Given the description of an element on the screen output the (x, y) to click on. 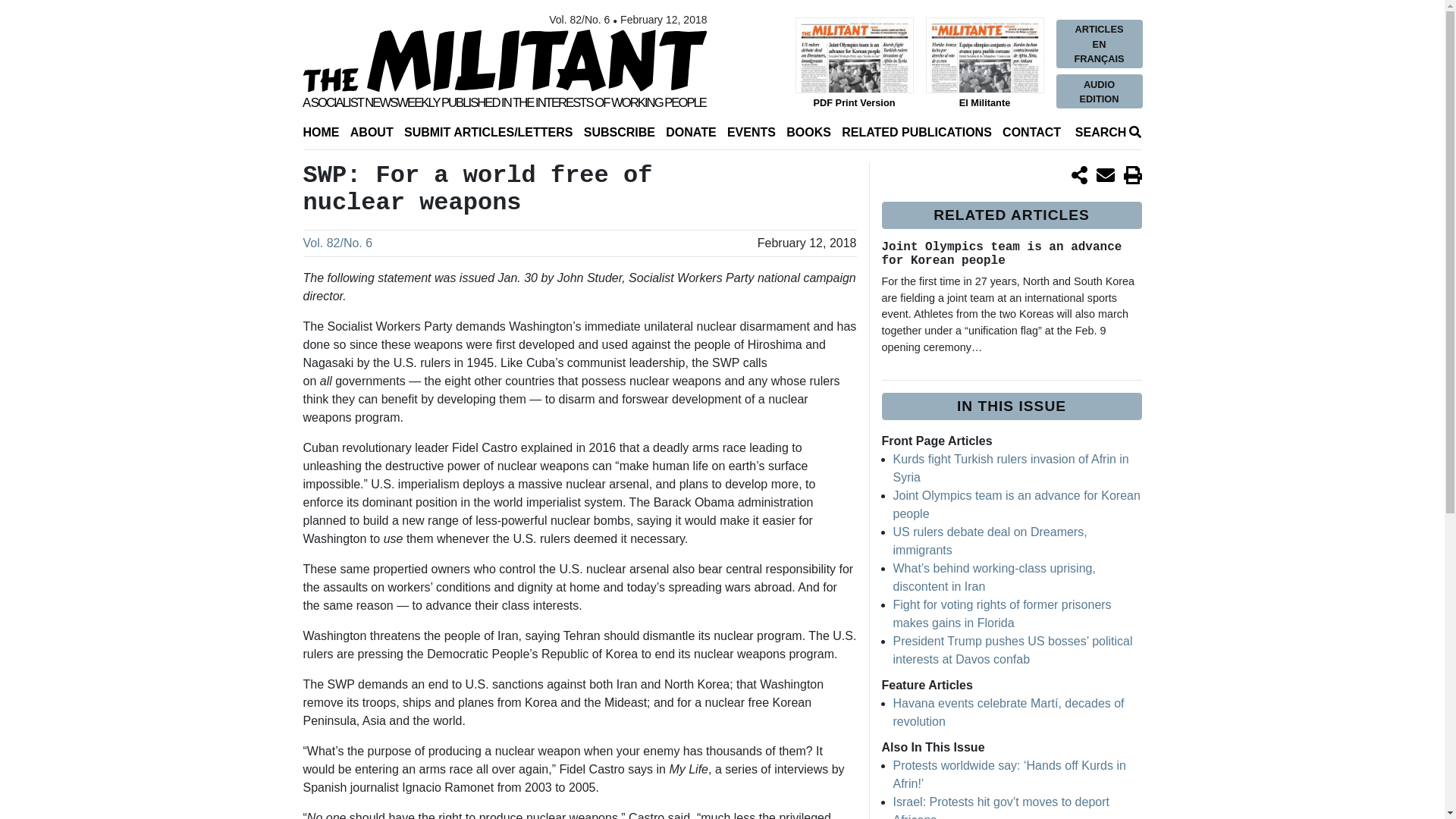
Events (751, 132)
Subscribe (619, 132)
Donate (690, 132)
BOOKS (808, 132)
Joint Olympics team is an advance for Korean people (1000, 253)
DONATE (690, 132)
Home (320, 132)
SUBSCRIBE (619, 132)
Joint Olympics team is an advance for Korean people (1016, 504)
EVENTS (751, 132)
